Given the description of an element on the screen output the (x, y) to click on. 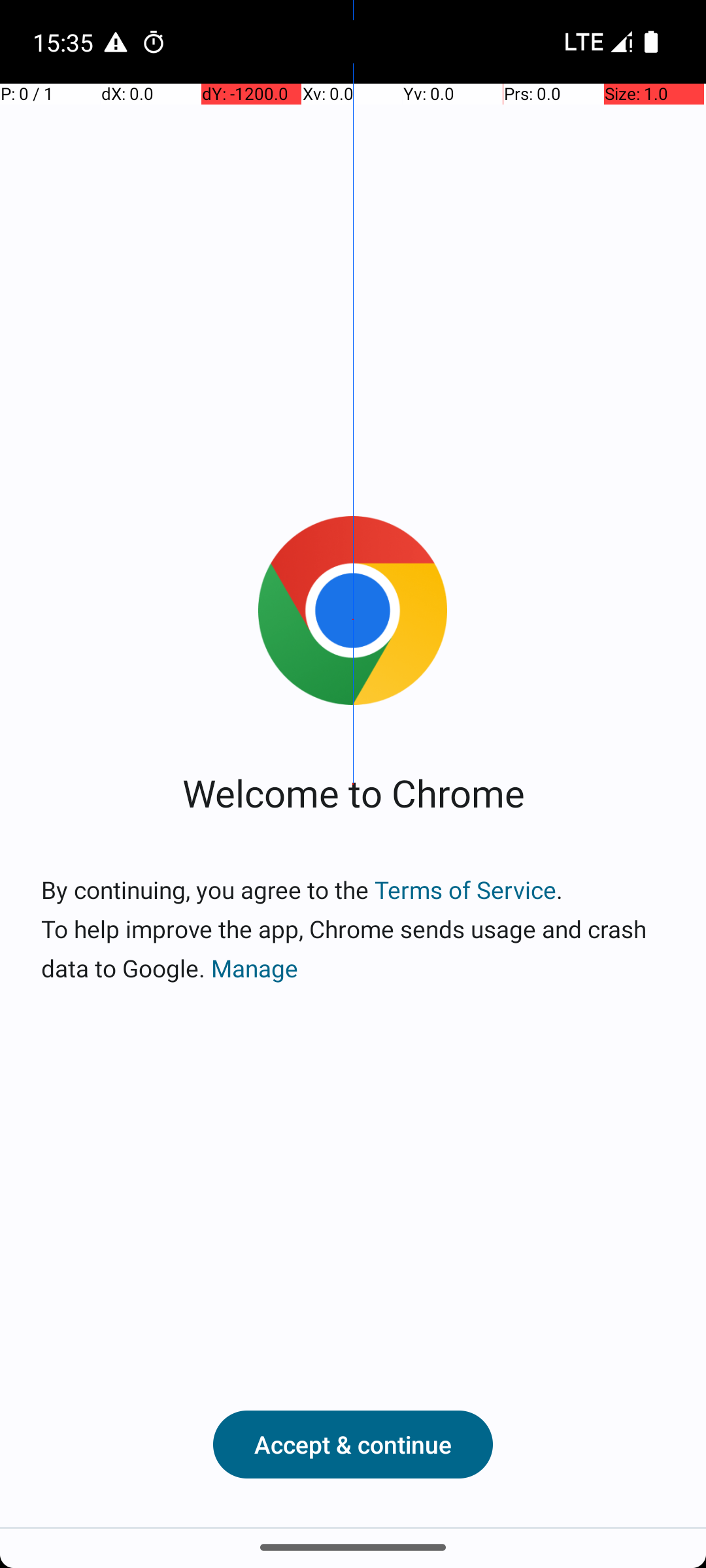
Accept & continue Element type: android.widget.Button (352, 1444)
By continuing, you agree to the Terms of Service.
To help improve the app, Chrome sends usage and crash data to Google. Manage Element type: android.widget.TextView (352, 928)
15:35 Element type: android.widget.TextView (64, 41)
